Given the description of an element on the screen output the (x, y) to click on. 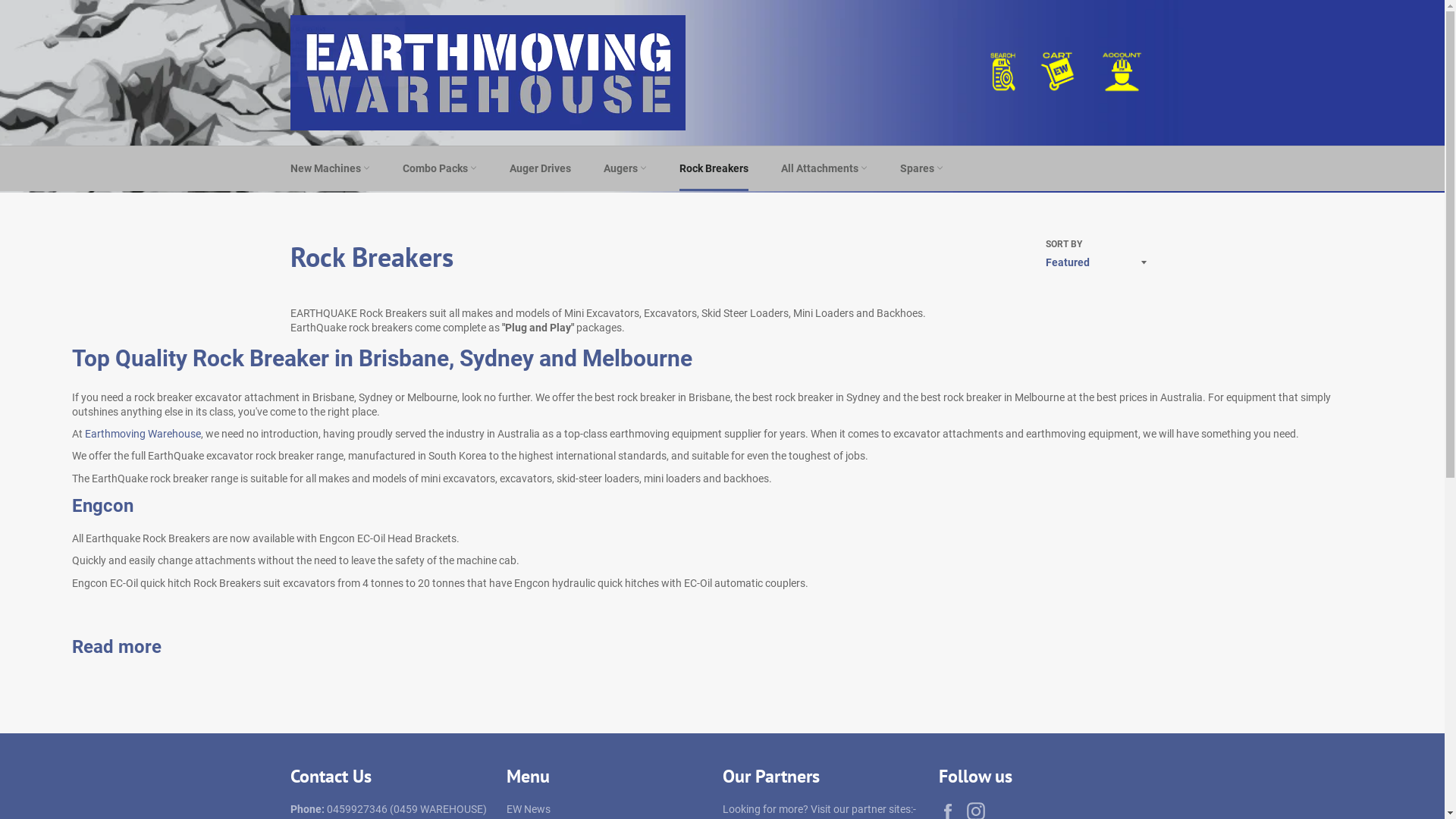
All Attachments Element type: text (823, 168)
EW News Element type: text (528, 809)
0459927346 (0459 WAREHOUSE) Element type: text (406, 809)
Rock Breakers Element type: text (713, 168)
Search Element type: text (1000, 72)
Read more Element type: text (116, 646)
Translation missing: en.layout.account.title Element type: text (1121, 72)
Cart Element type: text (1057, 72)
Augers Element type: text (625, 168)
Earthmoving Warehouse Element type: text (142, 433)
Auger Drives Element type: text (540, 168)
Spares Element type: text (920, 168)
New Machines Element type: text (329, 168)
Combo Packs Element type: text (438, 168)
